Given the description of an element on the screen output the (x, y) to click on. 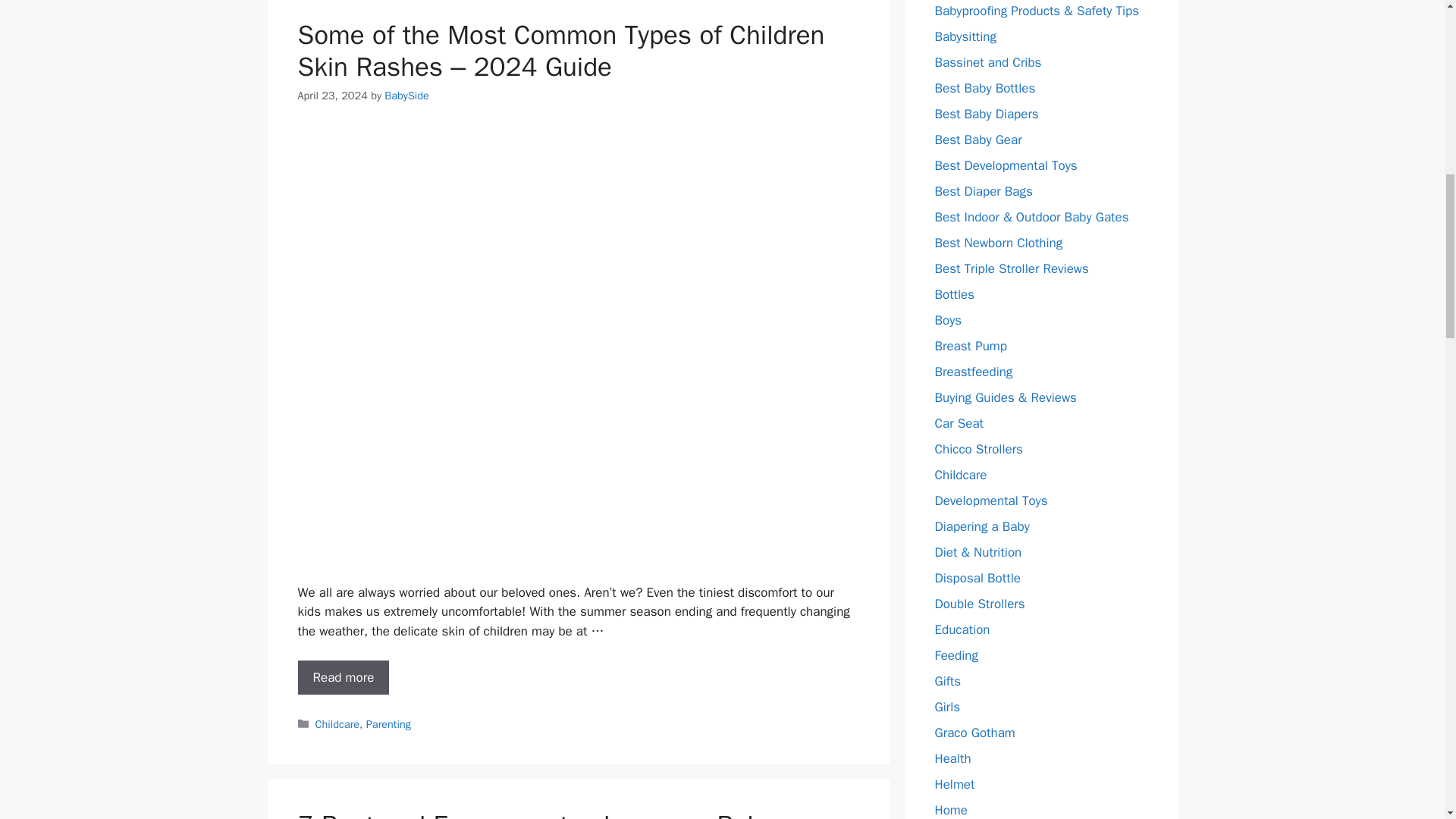
View all posts by BabySide (406, 95)
BabySide (406, 95)
Read more (342, 677)
Parenting (388, 724)
Childcare (337, 724)
